Given the description of an element on the screen output the (x, y) to click on. 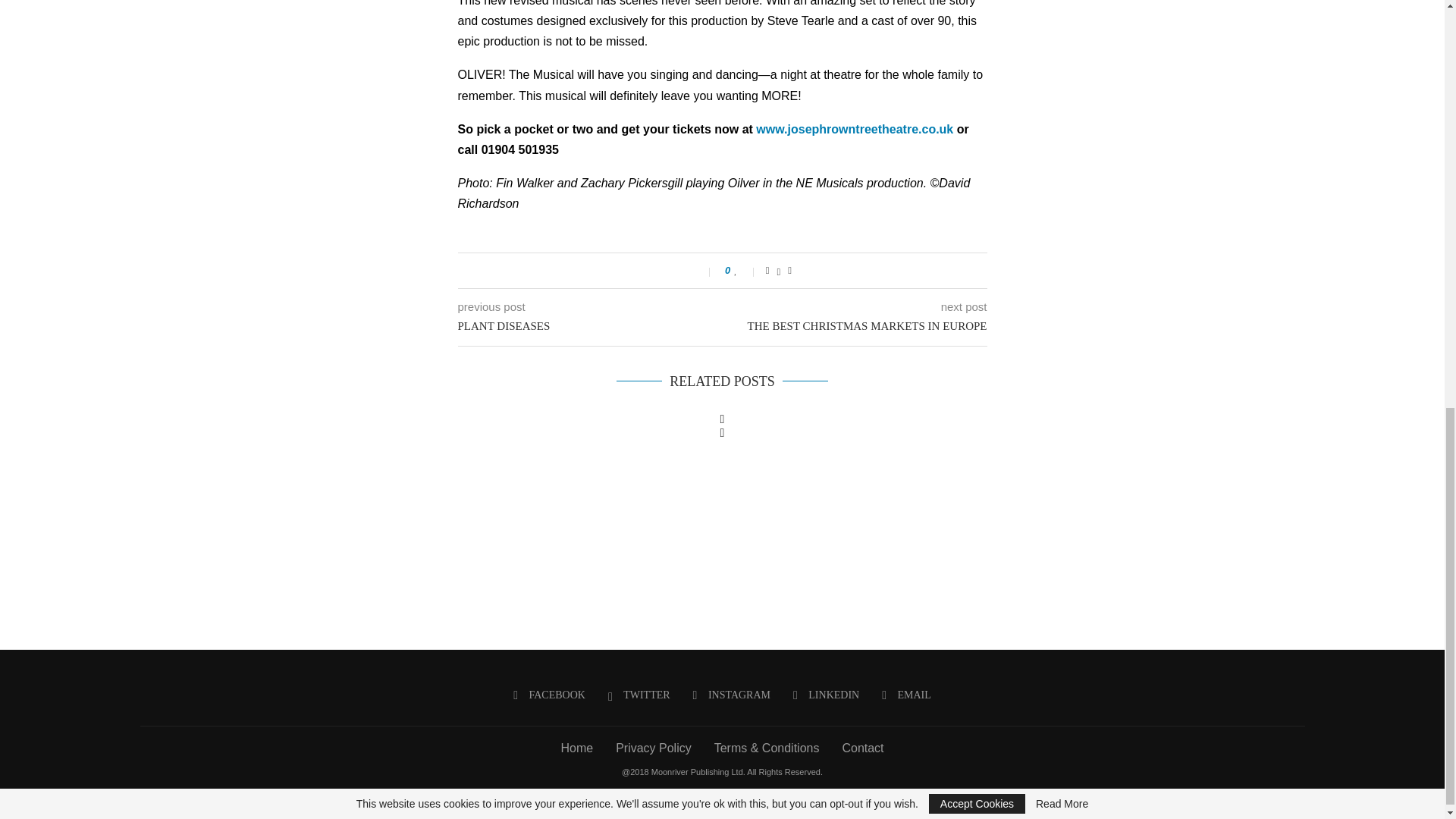
Like (745, 270)
